Given the description of an element on the screen output the (x, y) to click on. 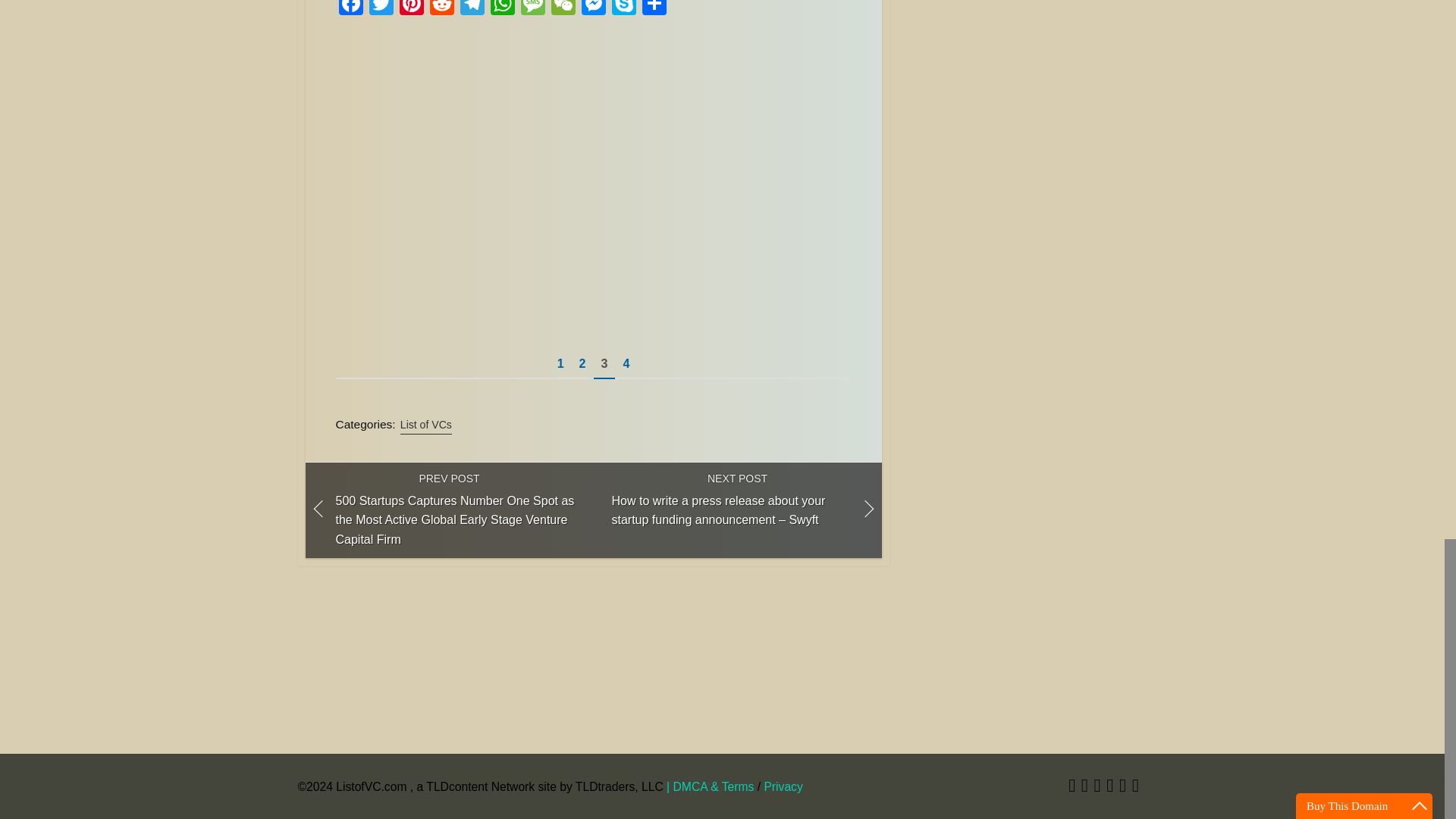
WhatsApp (501, 9)
Message (531, 9)
Twitter (380, 9)
WeChat (562, 9)
Reddit (441, 9)
Pinterest (411, 9)
Share (653, 9)
Facebook (349, 9)
Telegram (471, 9)
Skype (623, 9)
Messenger (593, 9)
